Given the description of an element on the screen output the (x, y) to click on. 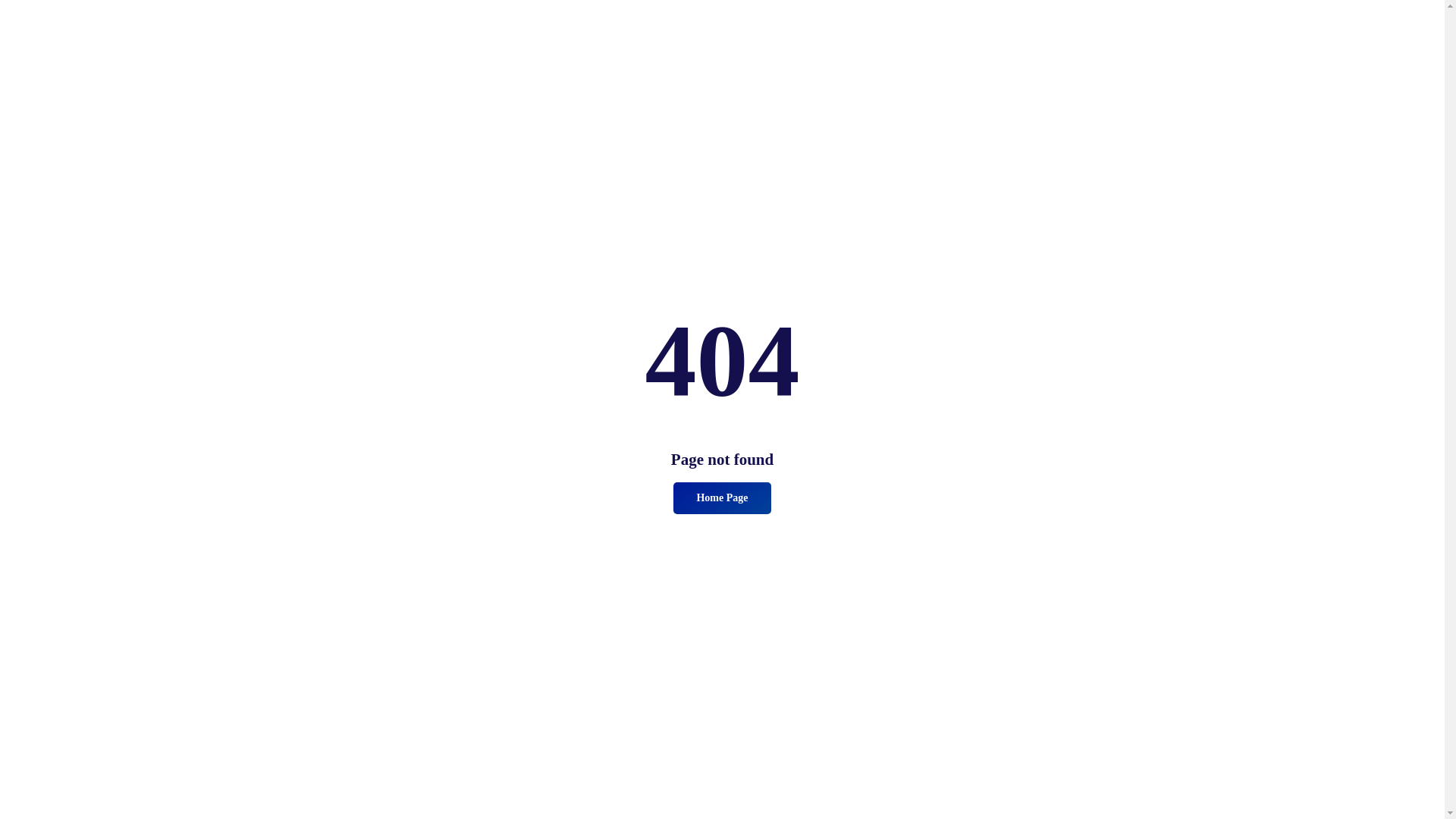
Home Page Element type: text (721, 498)
